Given the description of an element on the screen output the (x, y) to click on. 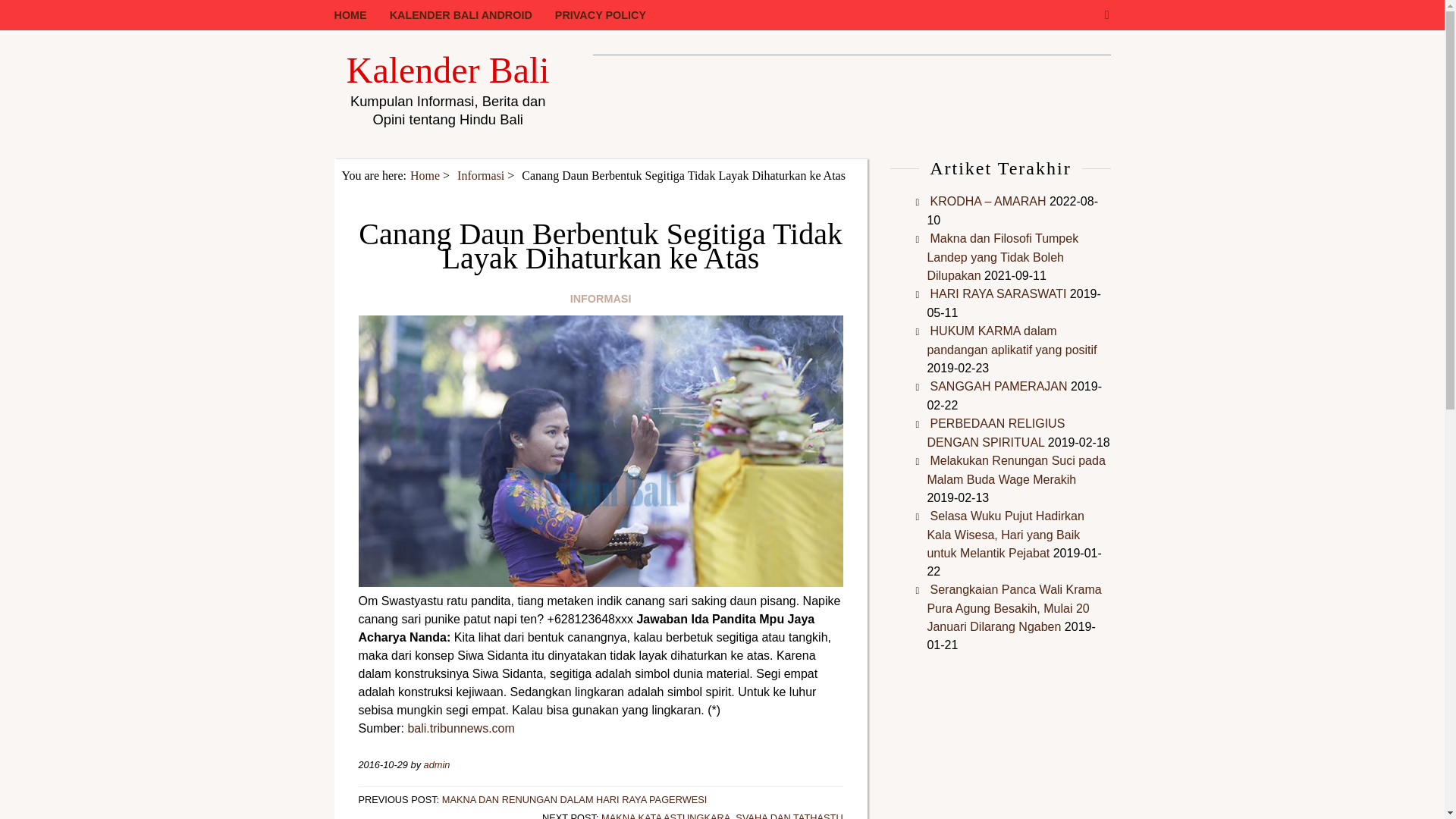
Home (424, 174)
HARI RAYA SARASWATI (998, 293)
Kalender Bali (448, 69)
Makna dan Filosofi Tumpek Landep yang Tidak Boleh Dilupakan (1002, 256)
HOME (360, 15)
MAKNA DAN RENUNGAN DALAM HARI RAYA PAGERWESI (574, 799)
Informasi (480, 174)
admin (436, 764)
HUKUM KARMA dalam pandangan aplikatif yang positif (1011, 340)
Melakukan Renungan Suci pada Malam Buda Wage Merakih (1015, 470)
PRIVACY POLICY (611, 15)
KALENDER BALI ANDROID (472, 15)
MAKNA KATA ASTUNGKARA, SVAHA DAN TATHASTU (722, 815)
